Given the description of an element on the screen output the (x, y) to click on. 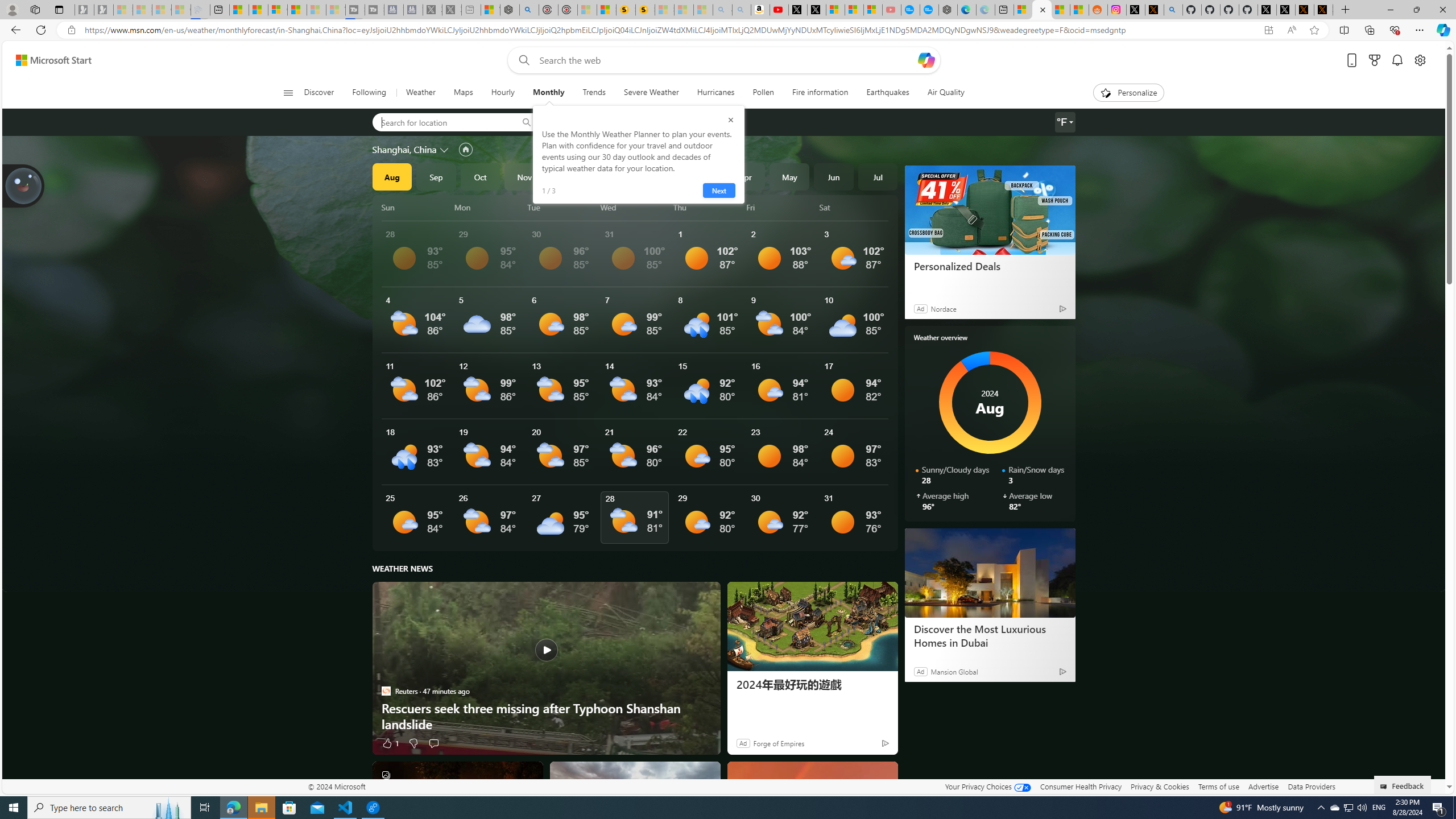
Privacy & Cookies (1160, 786)
Personalize (1128, 92)
Jul (877, 176)
Newsletter Sign Up - Sleeping (102, 9)
Aug (391, 176)
Opinion: Op-Ed and Commentary - USA TODAY (910, 9)
